Given the description of an element on the screen output the (x, y) to click on. 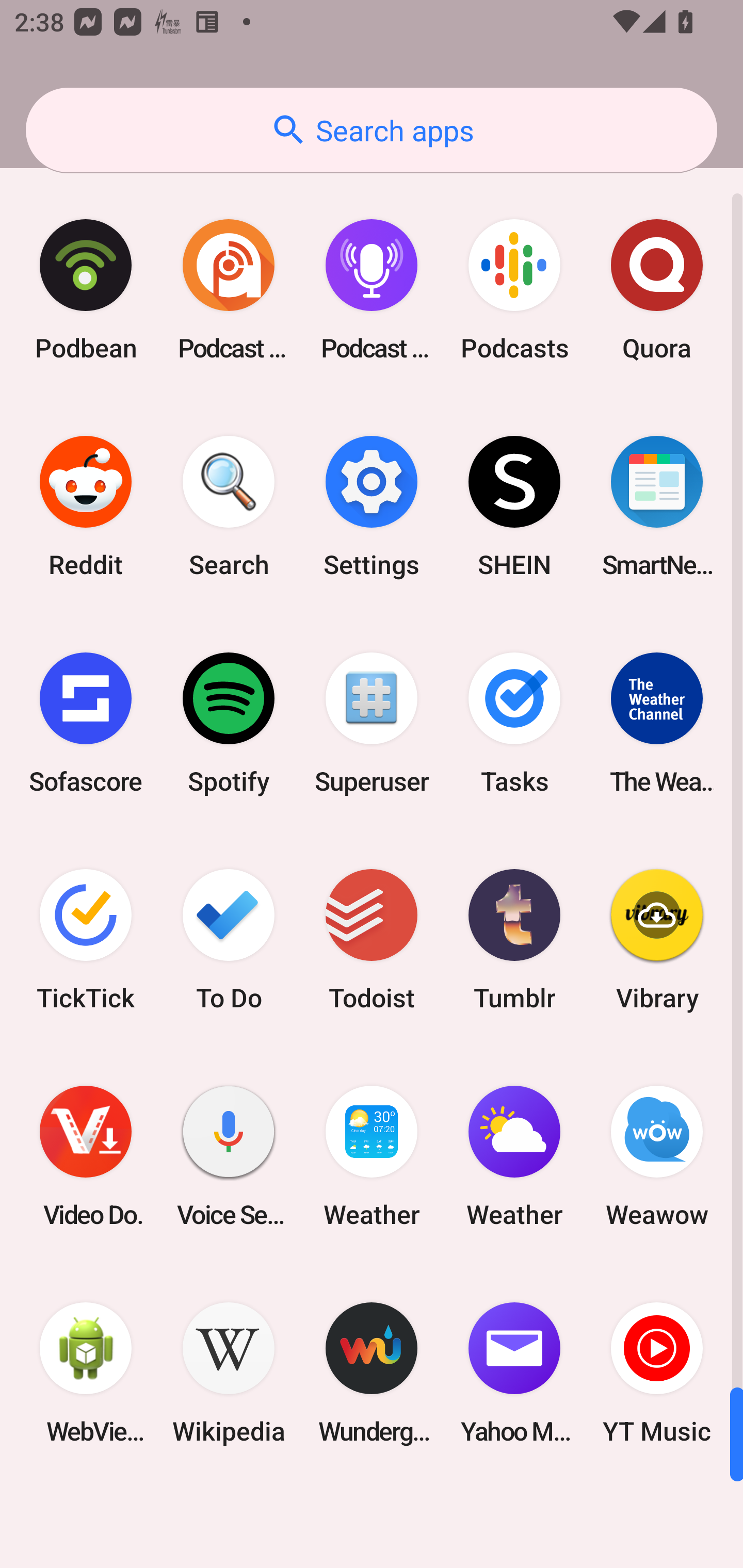
  Search apps (371, 130)
Podbean (85, 289)
Podcast Addict (228, 289)
Podcast Player (371, 289)
Podcasts (514, 289)
Quora (656, 289)
Reddit (85, 506)
Search (228, 506)
Settings (371, 506)
SHEIN (514, 506)
SmartNews (656, 506)
Sofascore (85, 722)
Spotify (228, 722)
Superuser (371, 722)
Tasks (514, 722)
The Weather Channel (656, 722)
TickTick (85, 939)
To Do (228, 939)
Todoist (371, 939)
Tumblr (514, 939)
Vibrary (656, 939)
Video Downloader & Ace Player (85, 1156)
Voice Search (228, 1156)
Weather (371, 1156)
Weather (514, 1156)
Weawow (656, 1156)
WebView Browser Tester (85, 1373)
Wikipedia (228, 1373)
Wunderground (371, 1373)
Yahoo Mail (514, 1373)
YT Music (656, 1373)
